Given the description of an element on the screen output the (x, y) to click on. 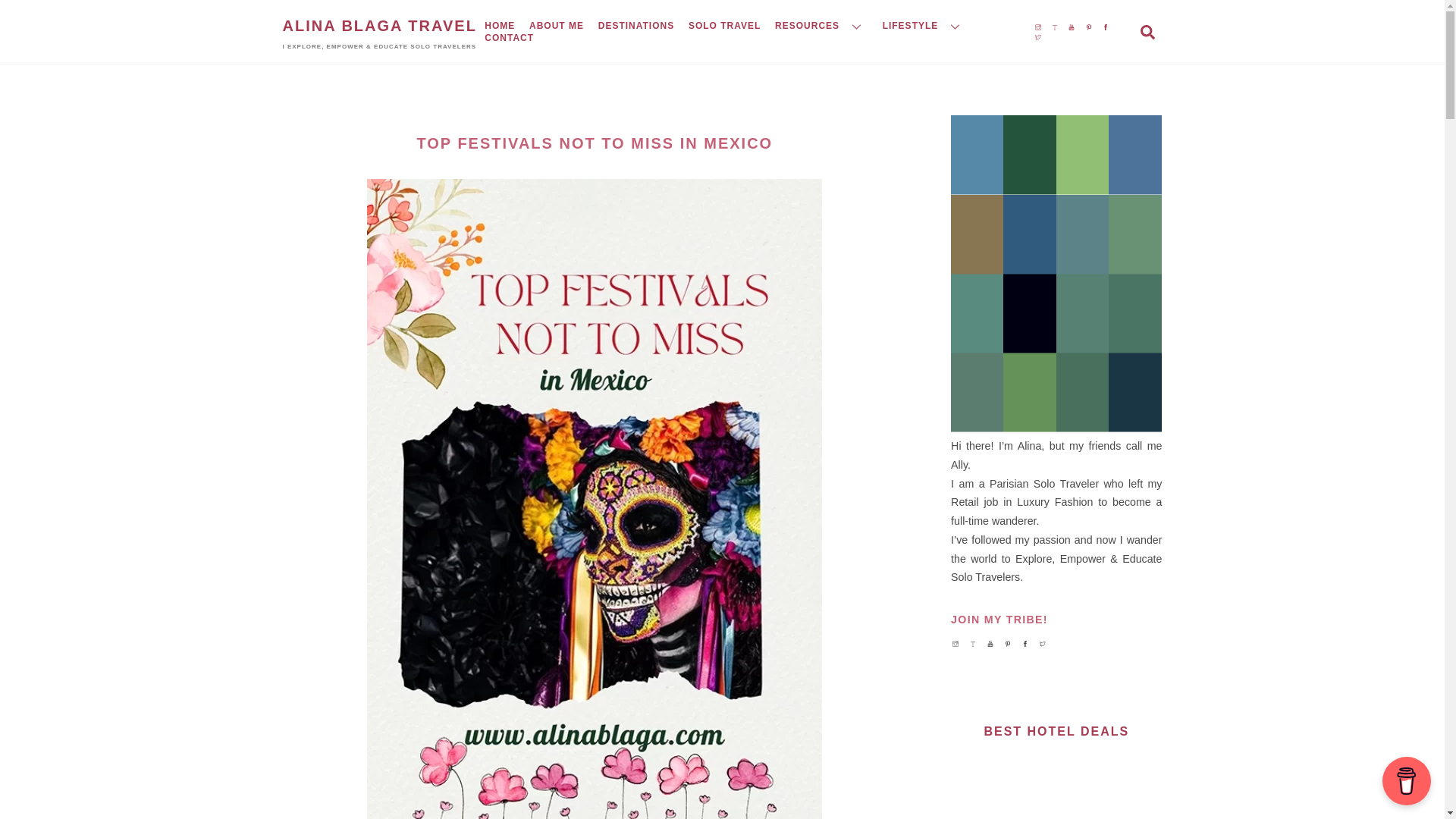
HOME (499, 25)
ALINA BLAGA TRAVEL (379, 25)
ALINA BLAGA TRAVEL (379, 25)
SEARCH (1146, 31)
ABOUT ME (556, 25)
DESTINATIONS (635, 25)
RESOURCES (821, 25)
SOLO TRAVEL (724, 25)
LIFESTYLE (924, 25)
CONTACT (508, 37)
